Given the description of an element on the screen output the (x, y) to click on. 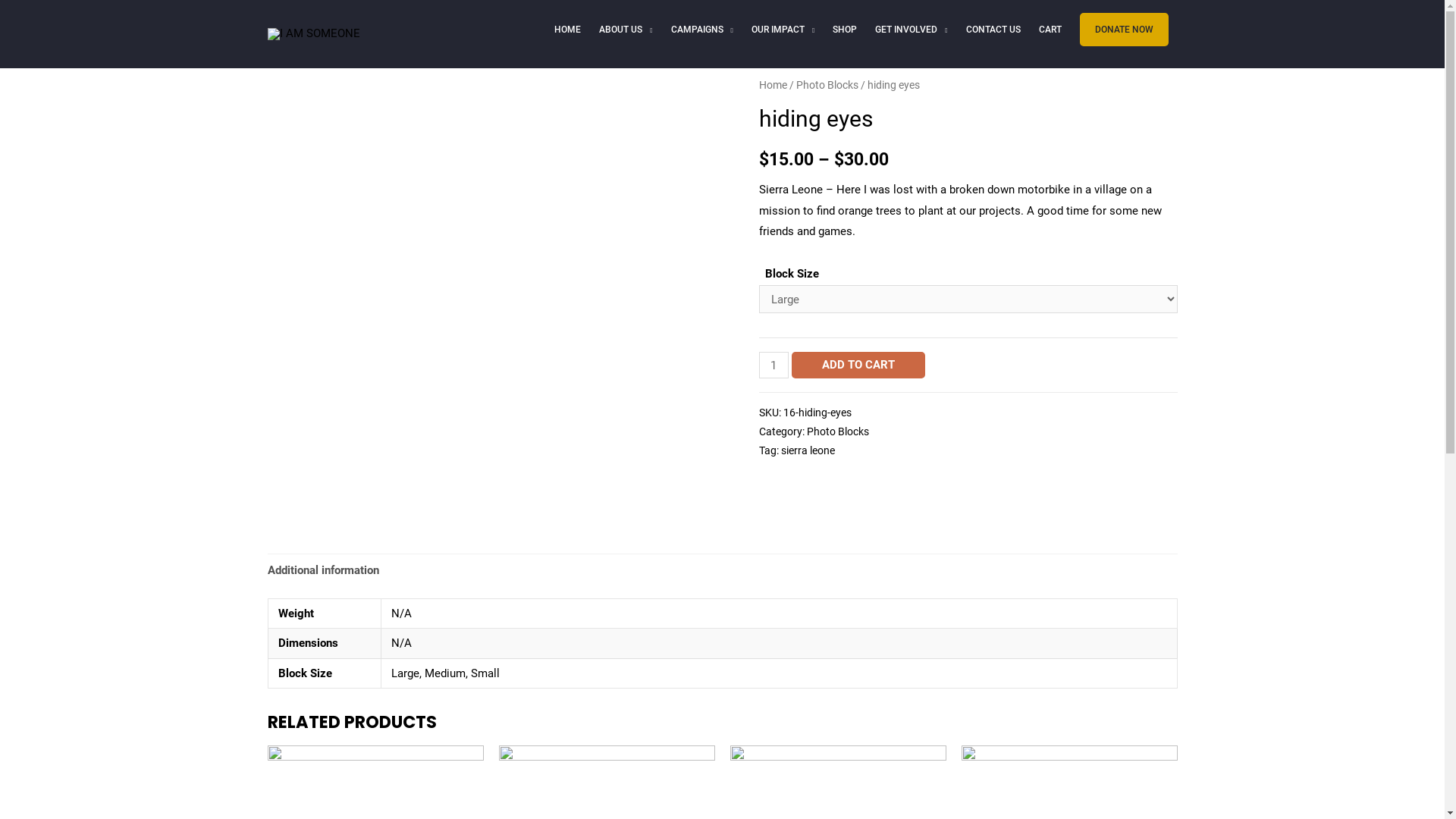
CAMPAIGNS Element type: text (702, 29)
Home Element type: text (772, 84)
DONATE NOW Element type: text (1123, 29)
sierra leone Element type: text (807, 450)
Additional information Element type: text (322, 570)
OUR IMPACT Element type: text (782, 29)
Photo Blocks Element type: text (837, 431)
Photo Blocks Element type: text (827, 84)
SHOP Element type: text (844, 29)
CART Element type: text (1049, 29)
HOME Element type: text (567, 29)
GET INVOLVED Element type: text (911, 29)
CONTACT US Element type: text (993, 29)
ABOUT US Element type: text (625, 29)
ADD TO CART Element type: text (858, 364)
